Given the description of an element on the screen output the (x, y) to click on. 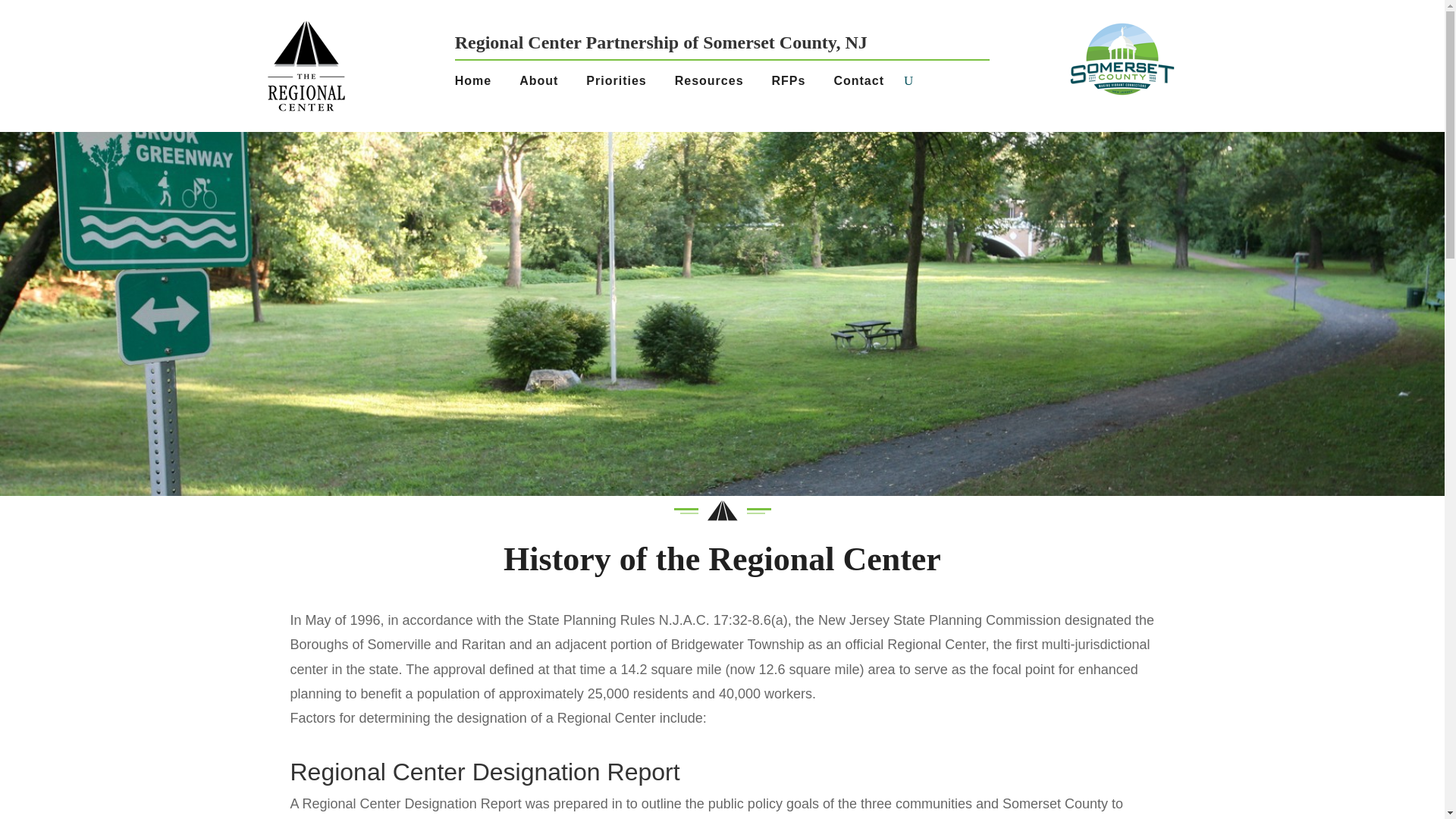
About (544, 84)
badge (721, 511)
Priorities (622, 84)
Contact (863, 84)
Resources (715, 84)
Home (478, 84)
logo-somerset (1121, 58)
RFPs (793, 84)
